Given the description of an element on the screen output the (x, y) to click on. 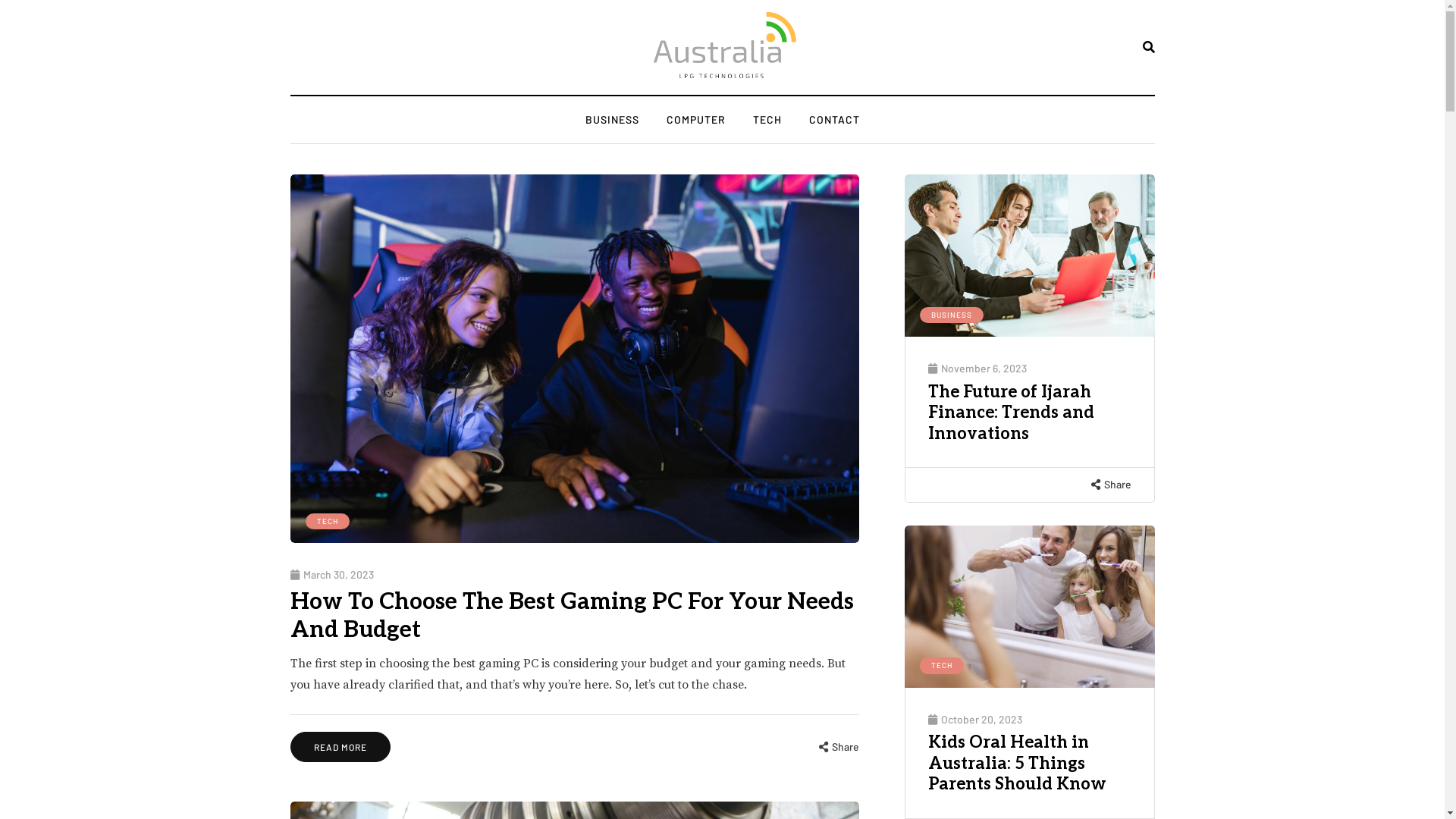
Kids Oral Health in Australia: 5 Things Parents Should Know Element type: text (1017, 763)
The Future of Ijarah Finance: Trends and Innovations Element type: text (1011, 413)
TECH Element type: text (766, 119)
BUSINESS Element type: text (611, 119)
COMPUTER Element type: text (695, 119)
How To Choose The Best Gaming PC For Your Needs And Budget Element type: text (571, 616)
TECH Element type: text (326, 521)
BUSINESS Element type: text (950, 315)
READ MORE Element type: text (339, 746)
CONTACT Element type: text (833, 119)
TECH Element type: text (941, 665)
